Given the description of an element on the screen output the (x, y) to click on. 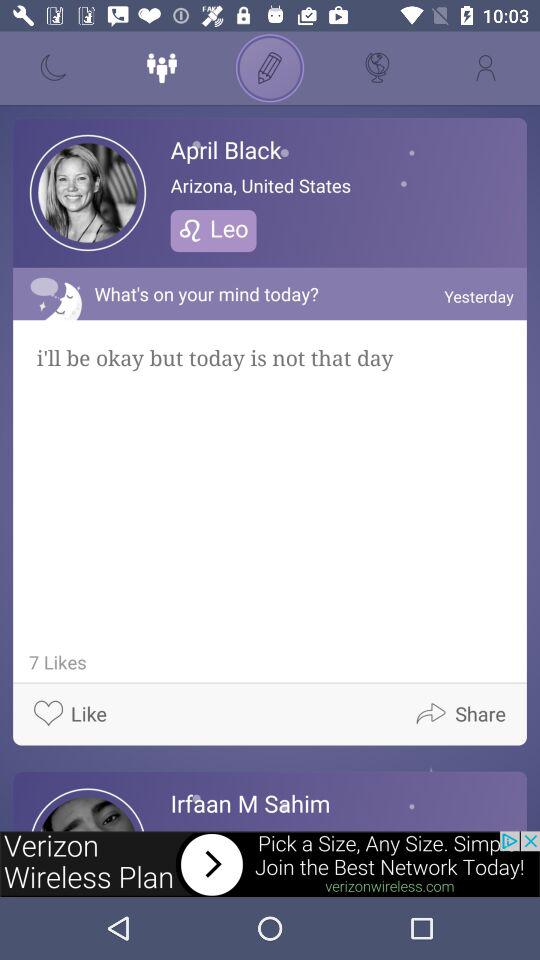
type the message (269, 68)
